Given the description of an element on the screen output the (x, y) to click on. 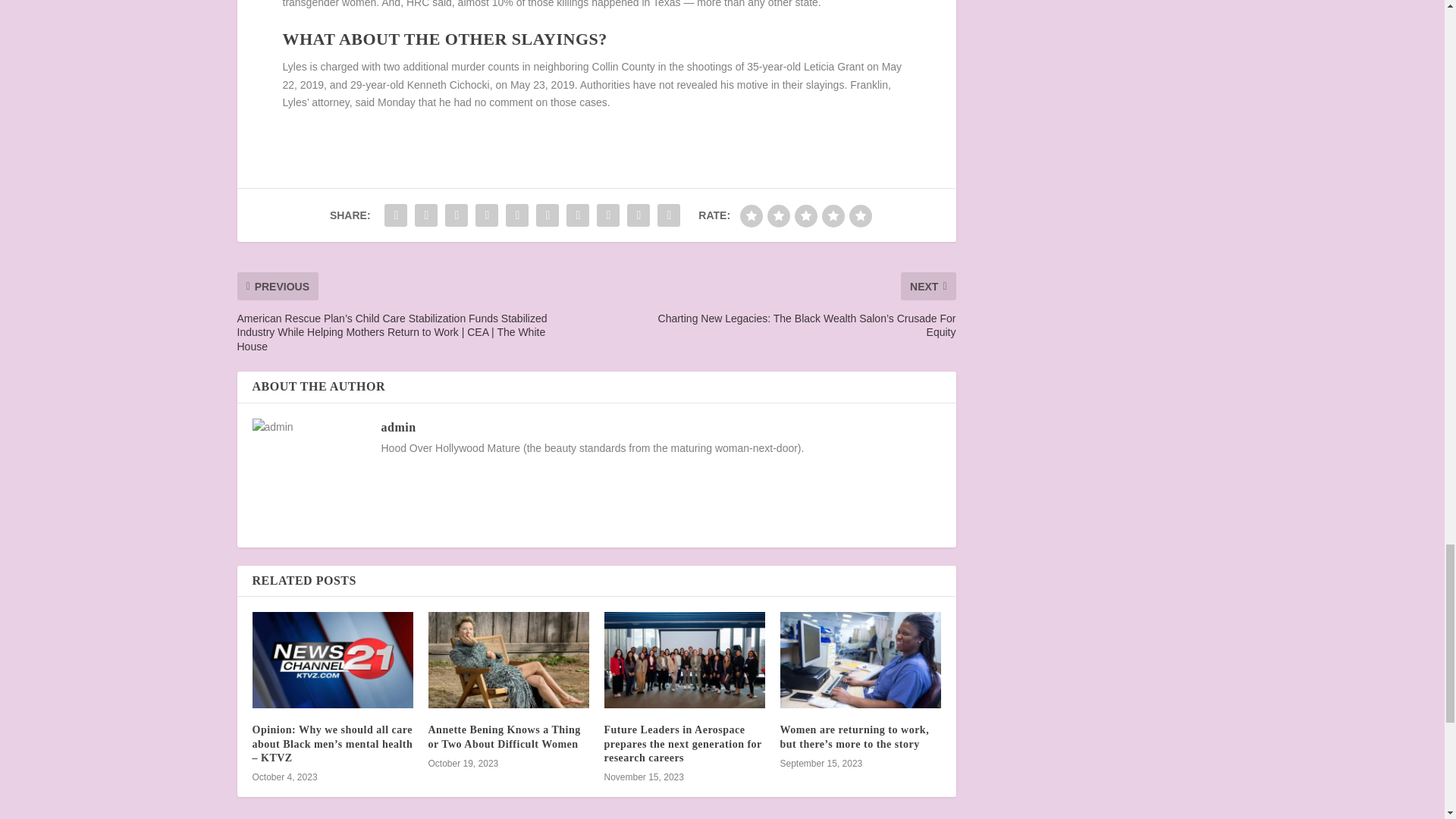
admin (397, 426)
